Given the description of an element on the screen output the (x, y) to click on. 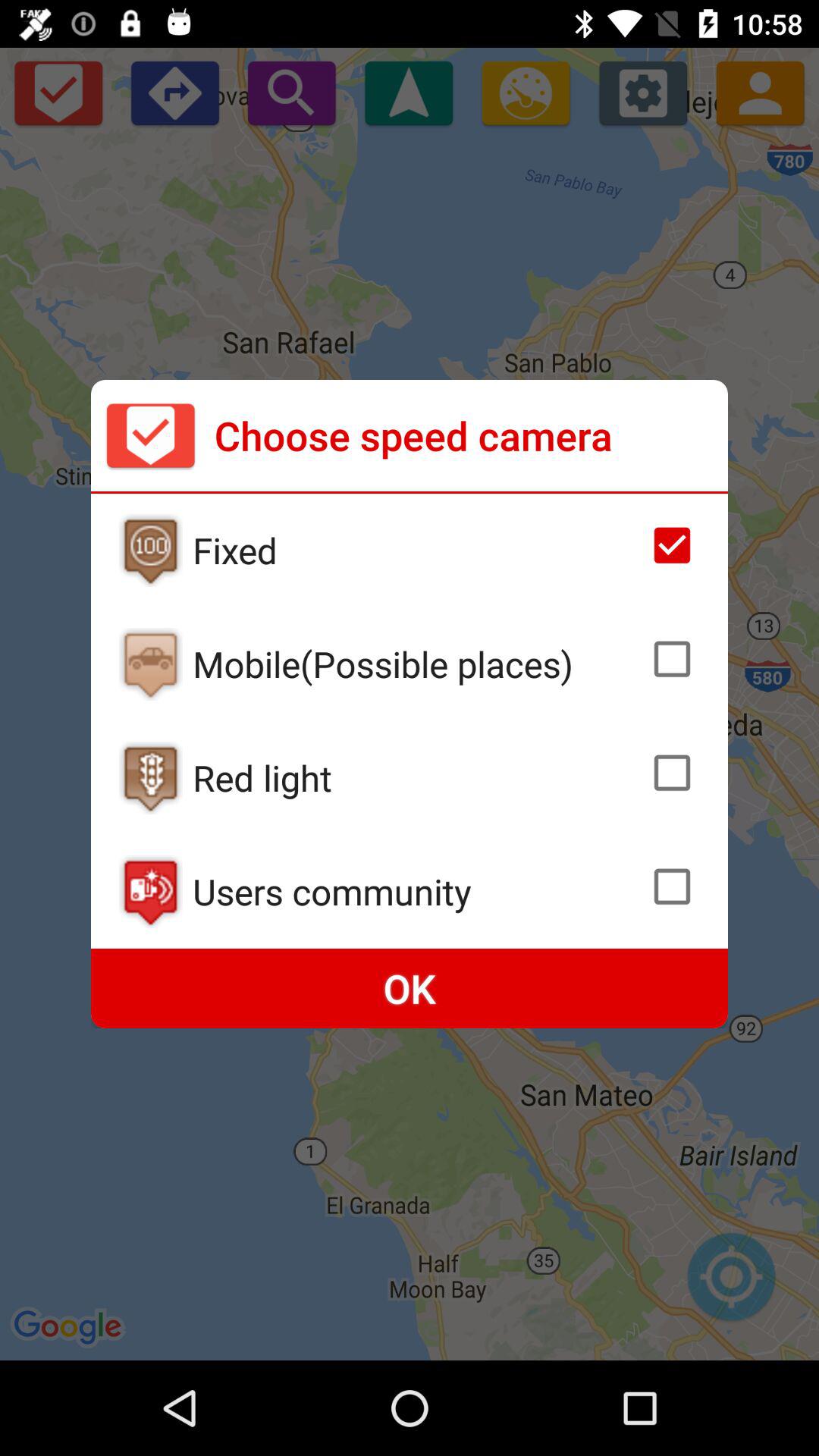
flip until mobile(possible places) (416, 663)
